Given the description of an element on the screen output the (x, y) to click on. 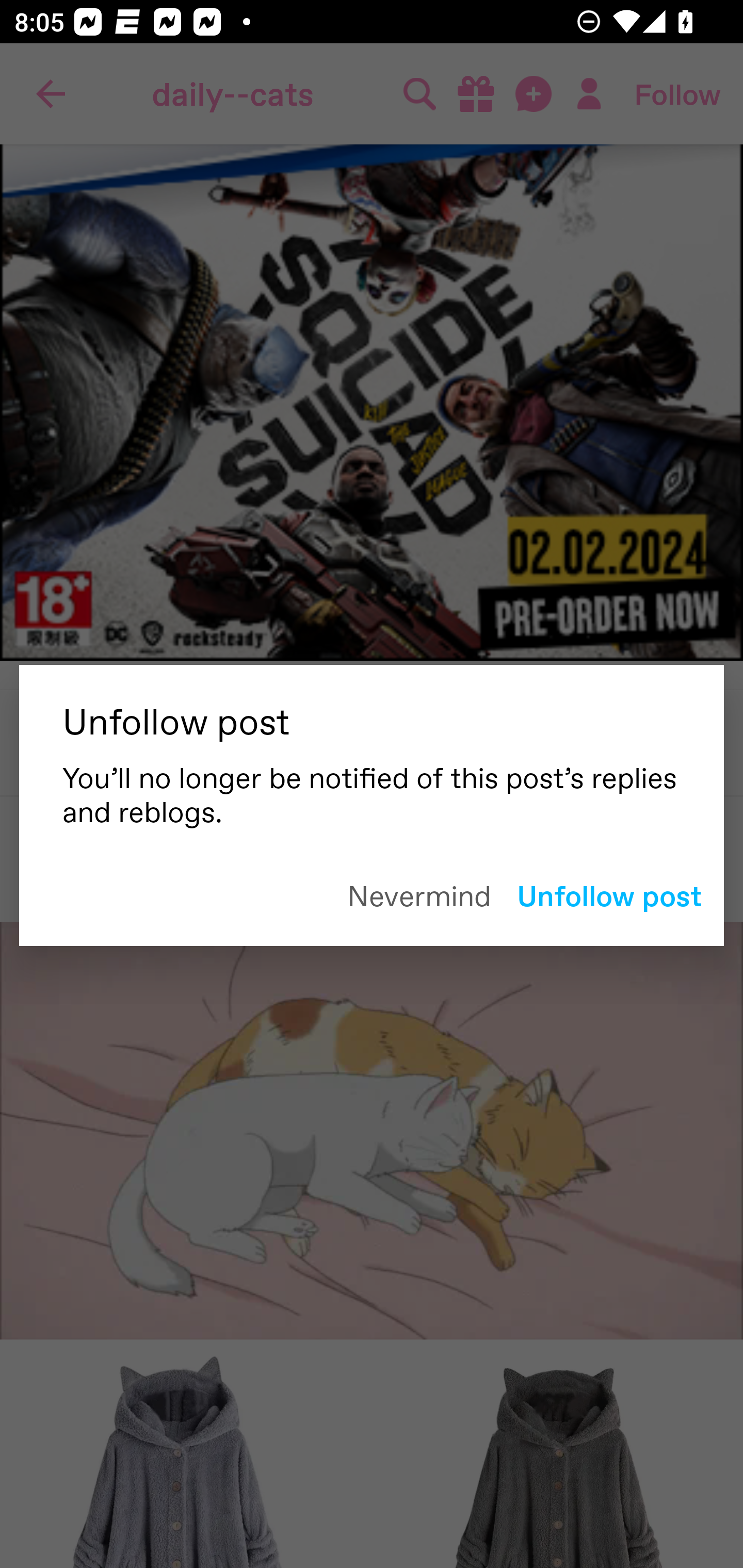
Nevermind (418, 894)
Unfollow post (609, 895)
